Given the description of an element on the screen output the (x, y) to click on. 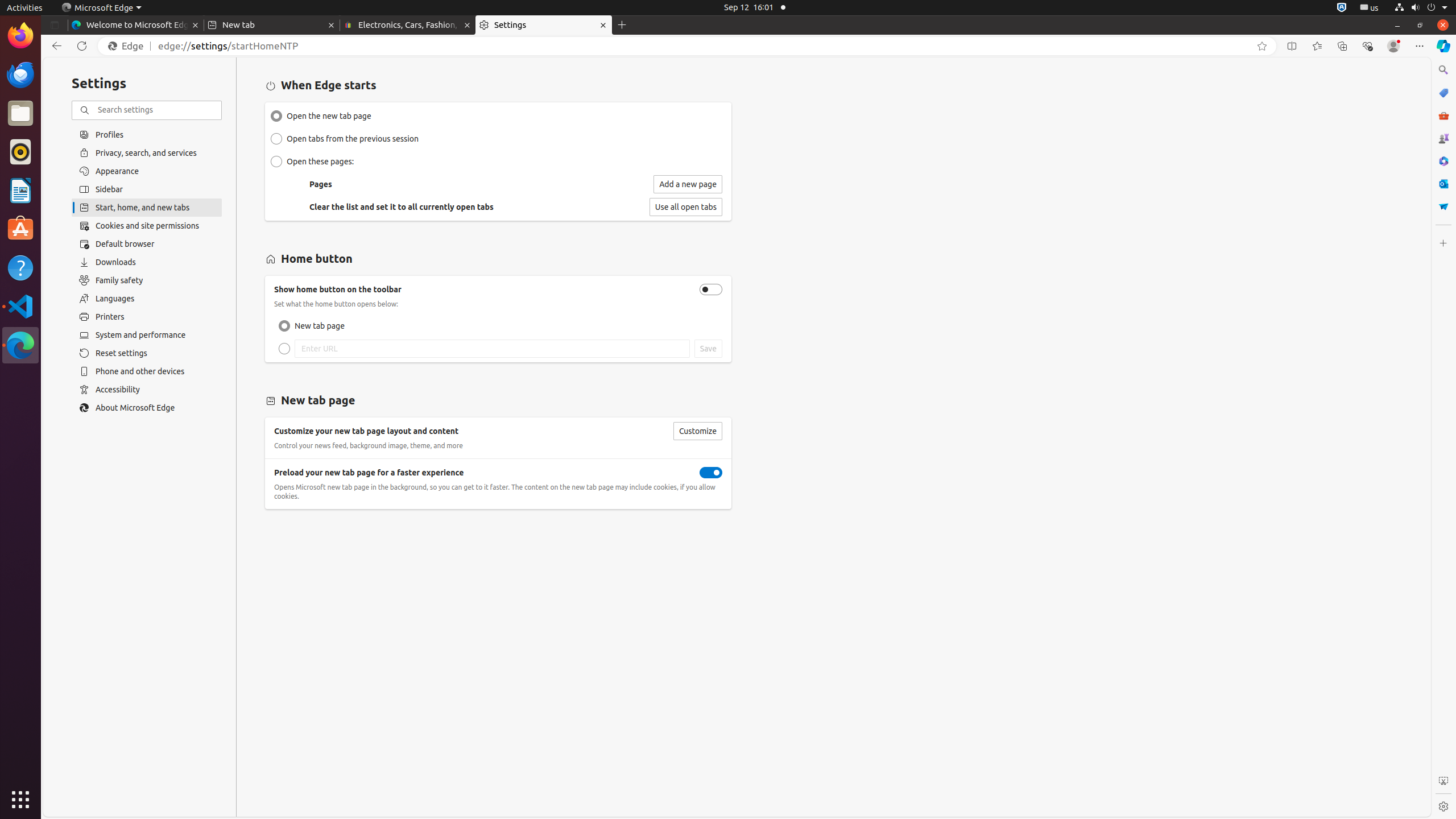
Sidebar Element type: tree-item (146, 189)
Profile 1 Profile, Please sign in Element type: push-button (1392, 46)
Thunderbird Mail Element type: push-button (20, 74)
Cookies and site permissions Element type: tree-item (146, 225)
Microsoft Shopping Element type: push-button (1443, 92)
